Given the description of an element on the screen output the (x, y) to click on. 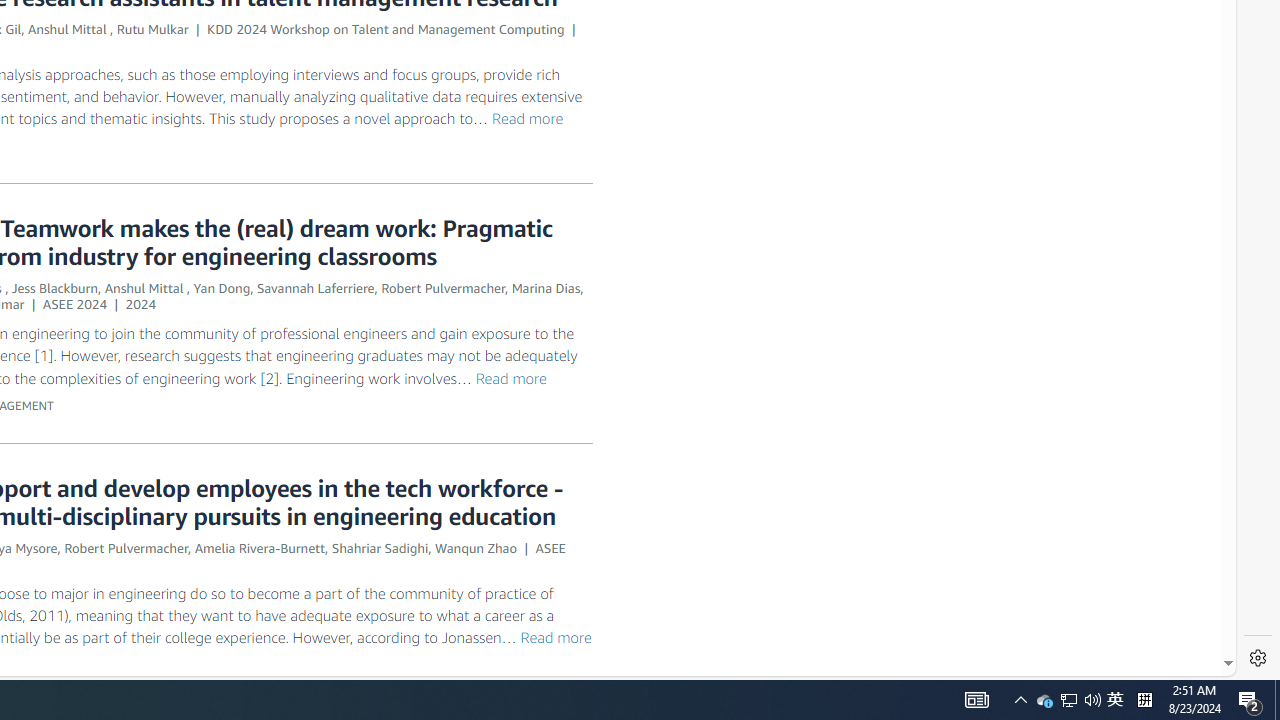
Amelia Rivera-Burnett (260, 547)
Jess Blackburn (54, 288)
Wanqun Zhao (475, 547)
Shahriar Sadighi (379, 547)
Robert Pulvermacher (126, 547)
Read more (555, 636)
Yan Dong (221, 288)
Marina Dias (545, 288)
Rutu Mulkar (152, 29)
KDD 2024 Workshop on Talent and Management Computing (385, 29)
